Given the description of an element on the screen output the (x, y) to click on. 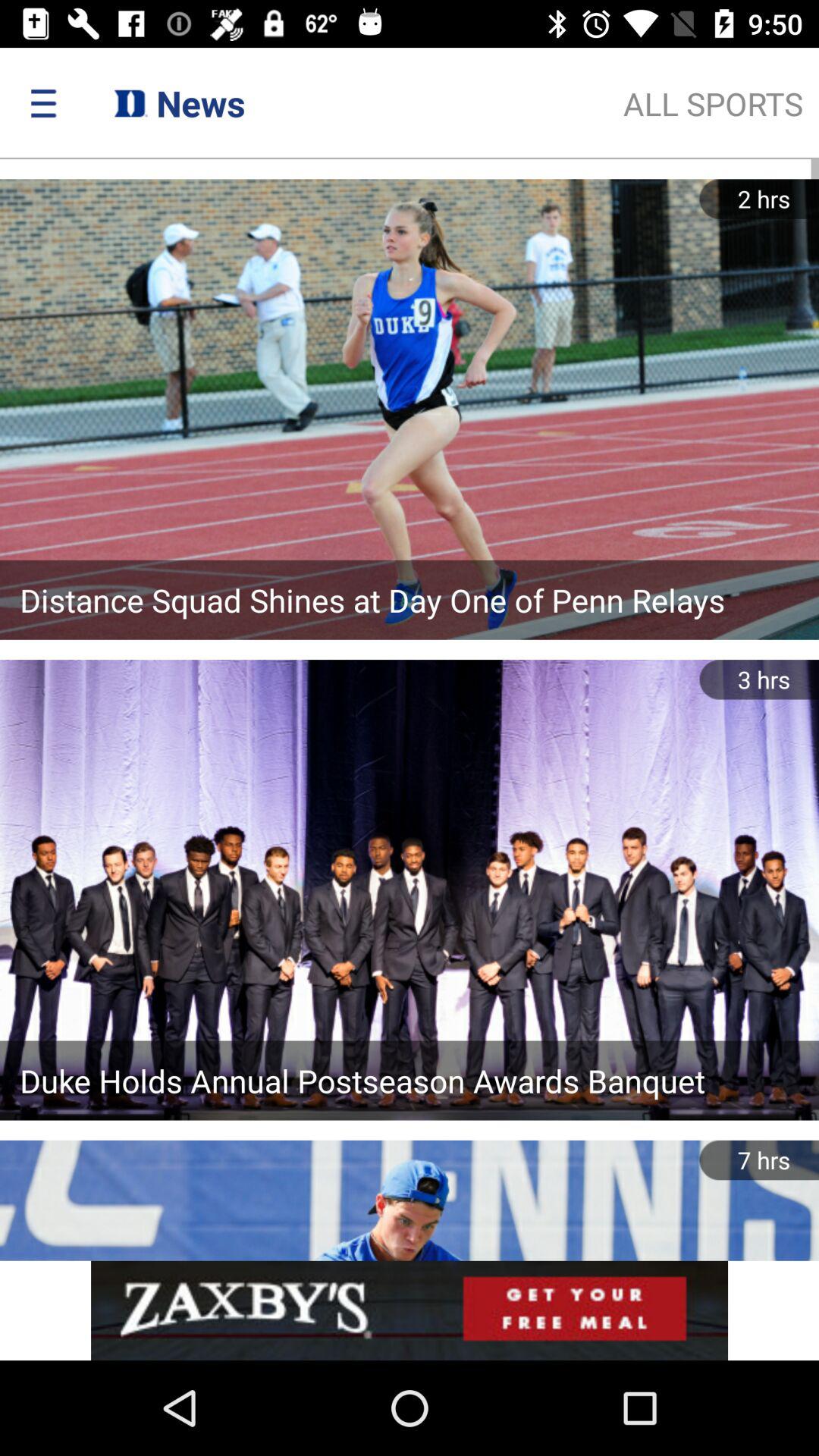
click on the text below time (713, 103)
